Given the description of an element on the screen output the (x, y) to click on. 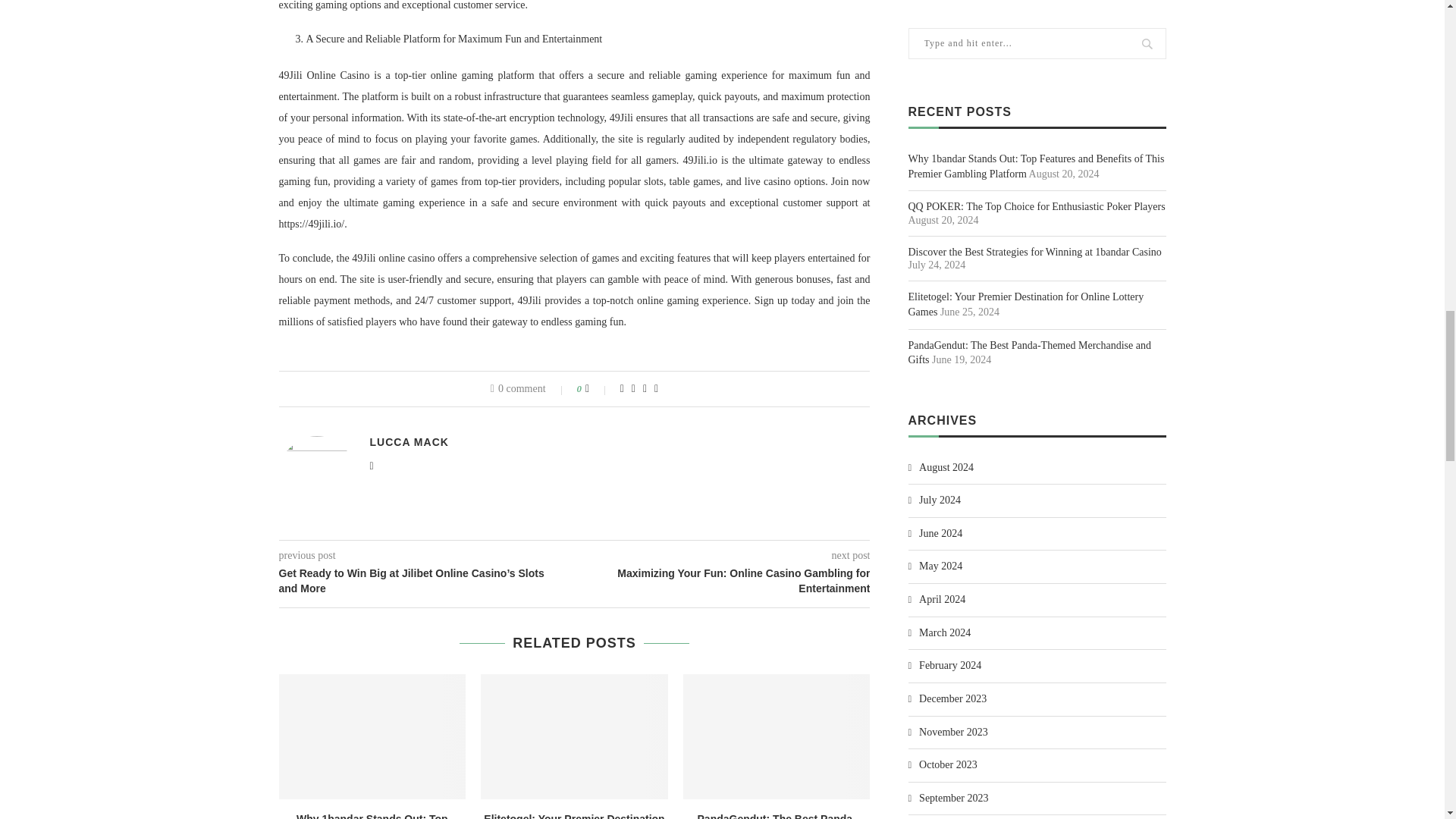
Posts by Lucca Mack (408, 441)
Like (597, 388)
PandaGendut: The Best Panda-Themed Merchandise and Gifts (776, 736)
